Given the description of an element on the screen output the (x, y) to click on. 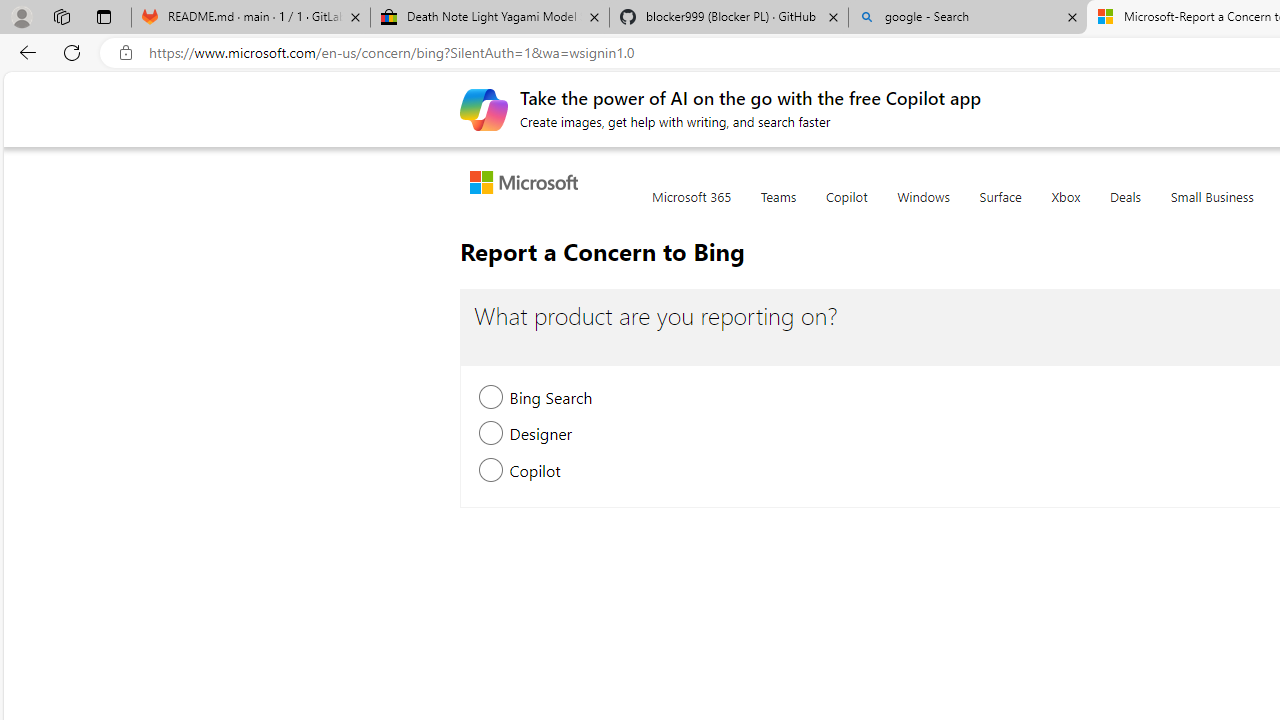
Surface (1000, 208)
Xbox (1066, 207)
Windows (923, 207)
Surface (1000, 207)
Designer, new section will be expanded (491, 435)
Deals (1124, 208)
Small Business (1212, 207)
Teams (778, 208)
Deals (1124, 207)
